Given the description of an element on the screen output the (x, y) to click on. 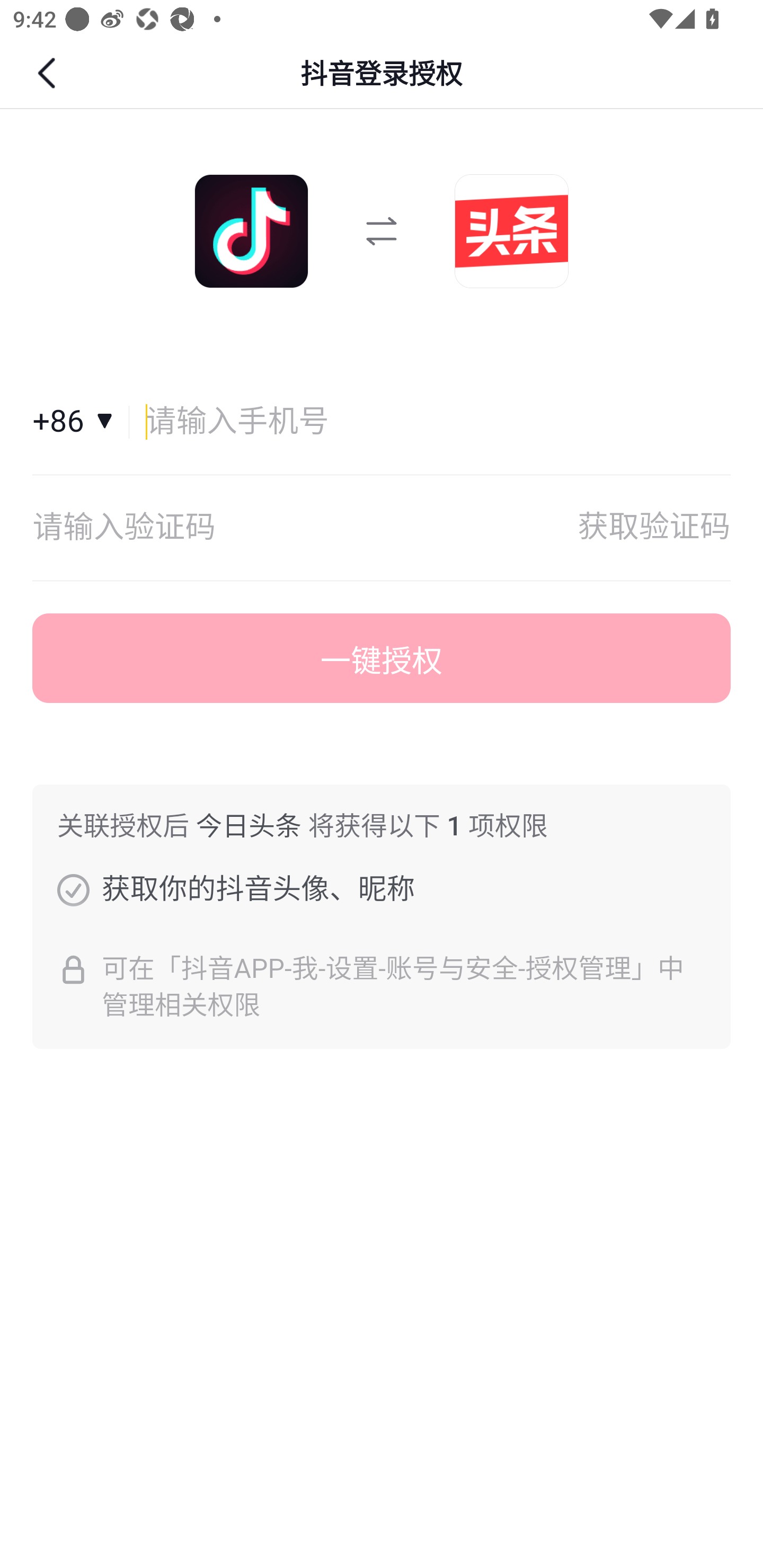
返回 (49, 72)
国家和地区+86 (81, 421)
获取验证码 (653, 527)
一键授权 (381, 658)
获取你的抖音头像、昵称 (72, 889)
